Given the description of an element on the screen output the (x, y) to click on. 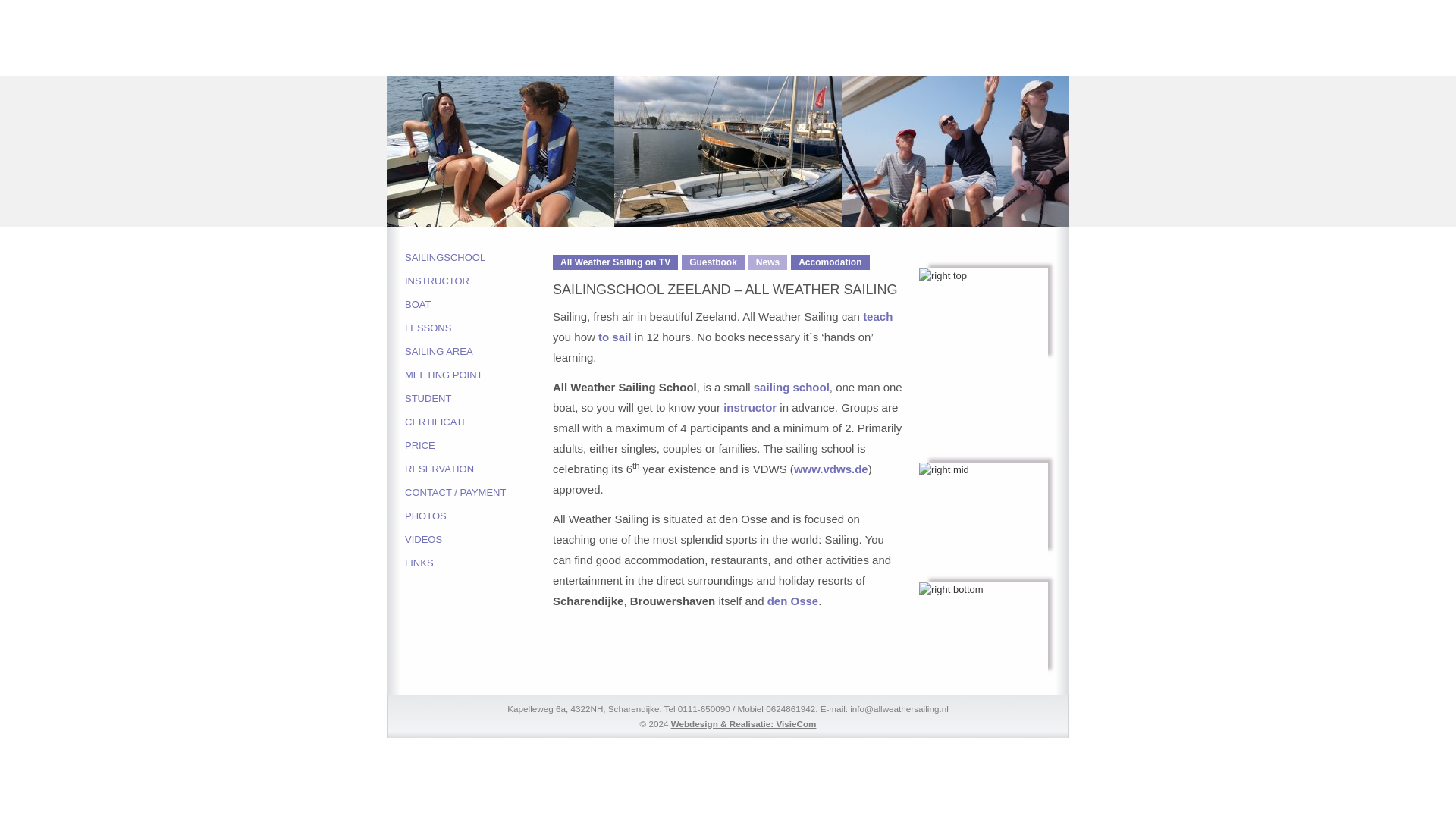
SAILINGSCHOOL (478, 257)
Guestbook (712, 262)
MEETING POINT (478, 374)
PRICE (478, 445)
sailinginstructor (749, 407)
PHOTOS (478, 515)
LESSONS (478, 327)
INSTRUCTOR (478, 280)
VIDEOS (478, 539)
All Weather Sailing on TV (615, 262)
sailing zeeland (792, 600)
sail lessons (614, 336)
LINKS (478, 562)
CERTIFICATE (478, 422)
Accomodation (829, 262)
